Given the description of an element on the screen output the (x, y) to click on. 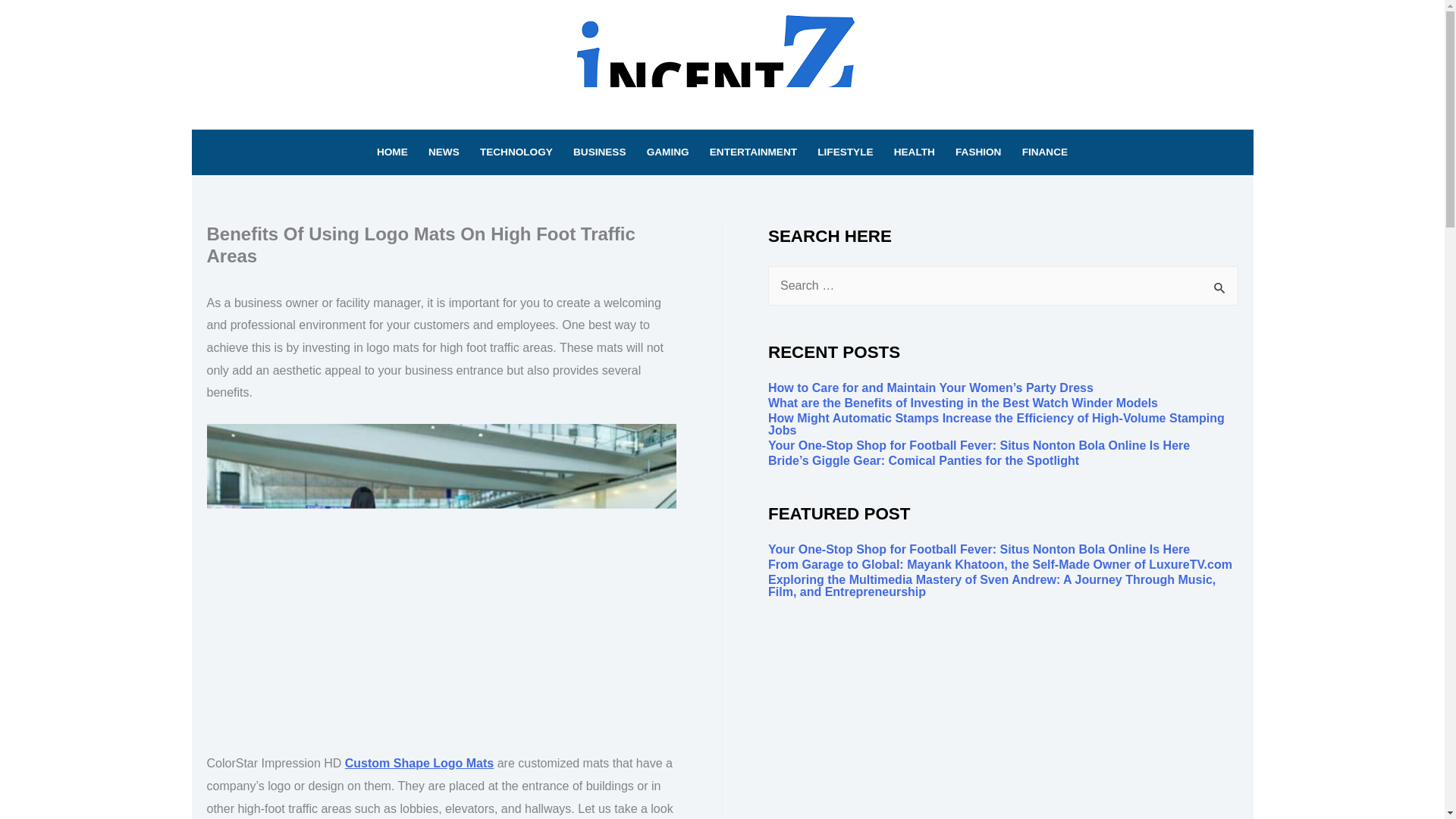
Custom Shape Logo Mats (419, 762)
Search (1221, 287)
ENTERTAINMENT (752, 152)
GAMING (667, 152)
NEWS (442, 152)
FASHION (977, 152)
HOME (391, 152)
TECHNOLOGY (515, 152)
HEALTH (913, 152)
FINANCE (1044, 152)
LIFESTYLE (845, 152)
Search (1221, 287)
BUSINESS (599, 152)
